Given the description of an element on the screen output the (x, y) to click on. 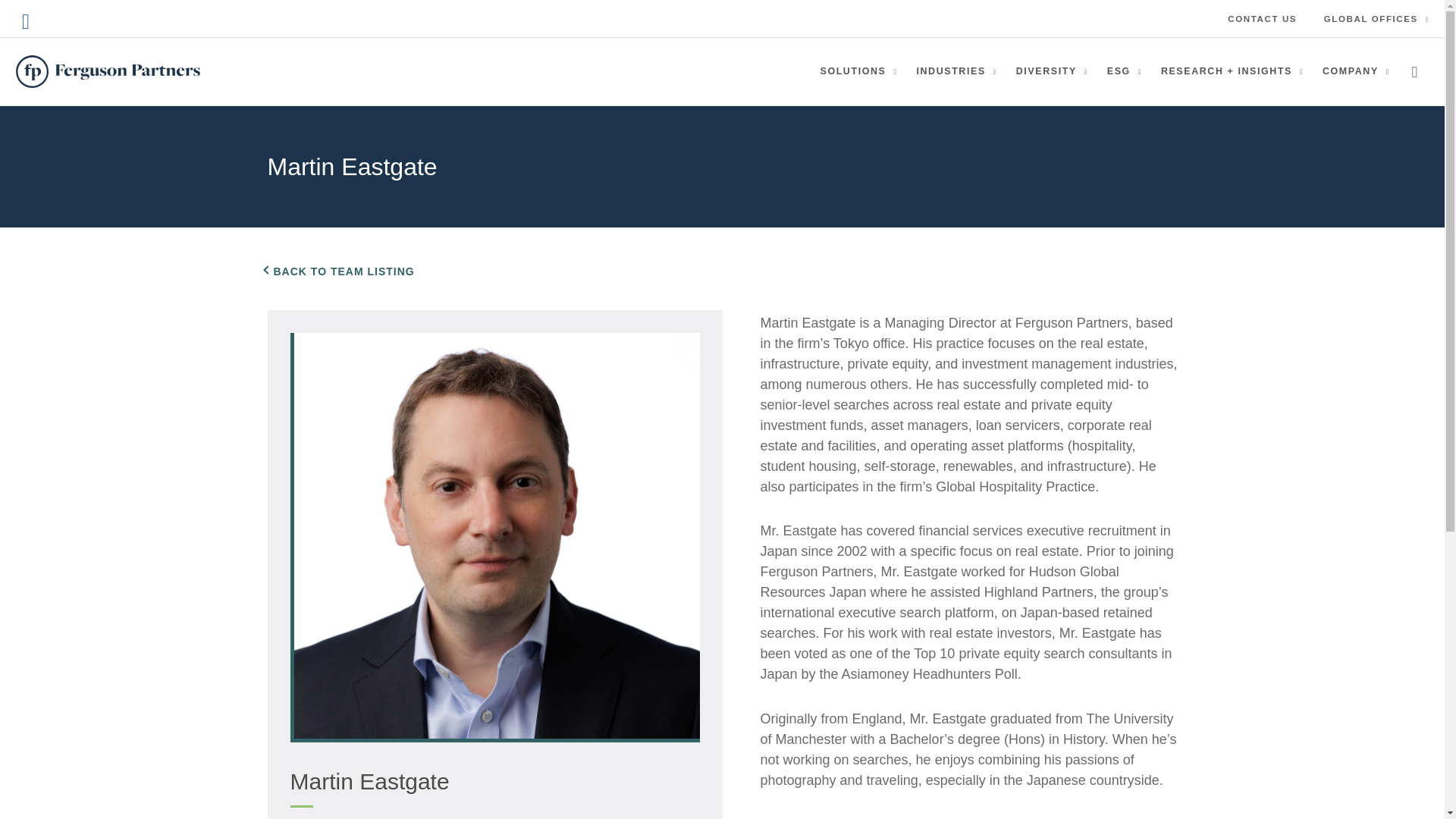
GLOBAL OFFICES (1371, 18)
SOLUTIONS (858, 71)
CONTACT US (1267, 18)
